Given the description of an element on the screen output the (x, y) to click on. 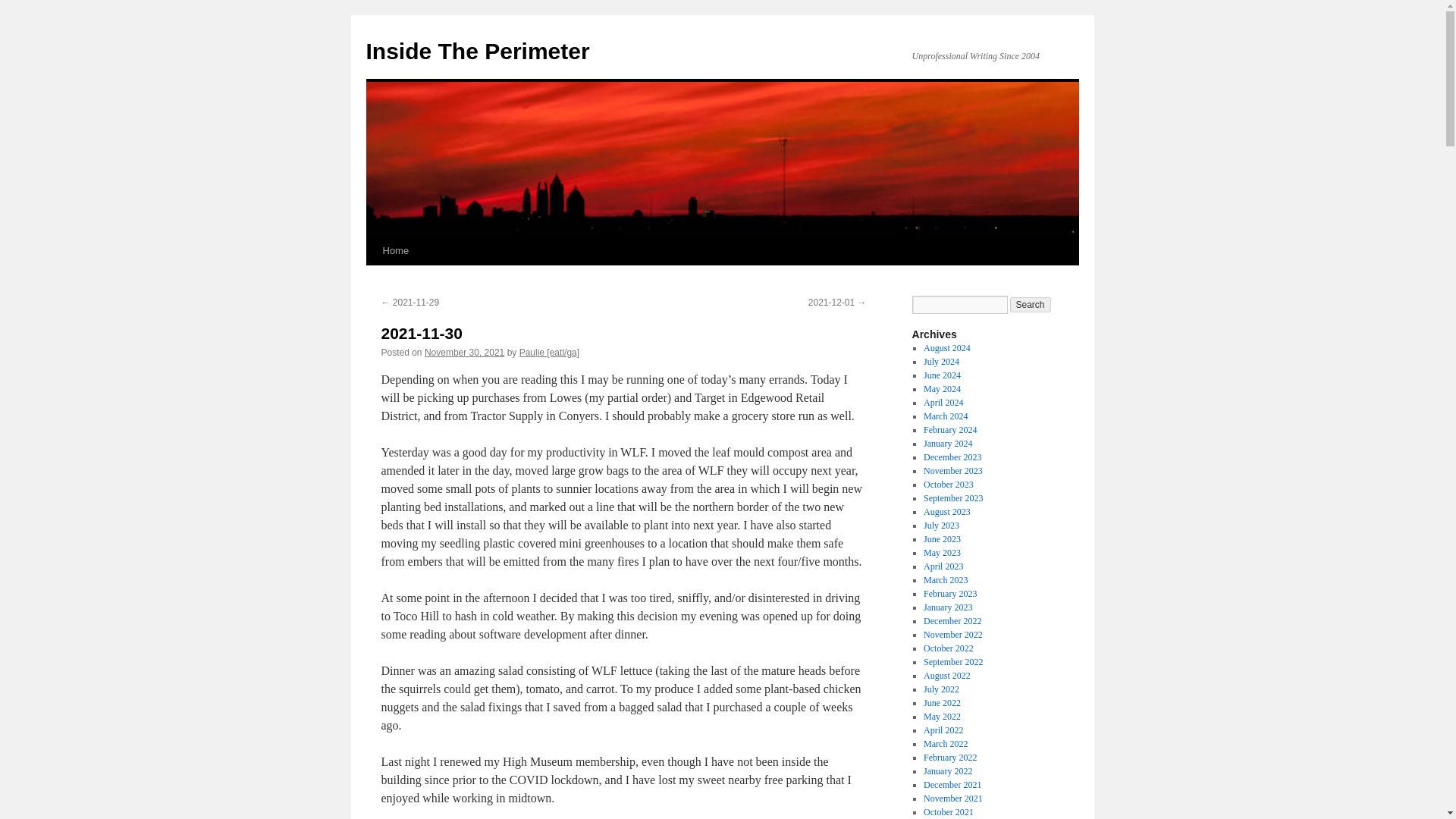
Home (395, 250)
5:32 am (464, 352)
Inside The Perimeter (477, 50)
November 30, 2021 (464, 352)
Search (1030, 304)
